Given the description of an element on the screen output the (x, y) to click on. 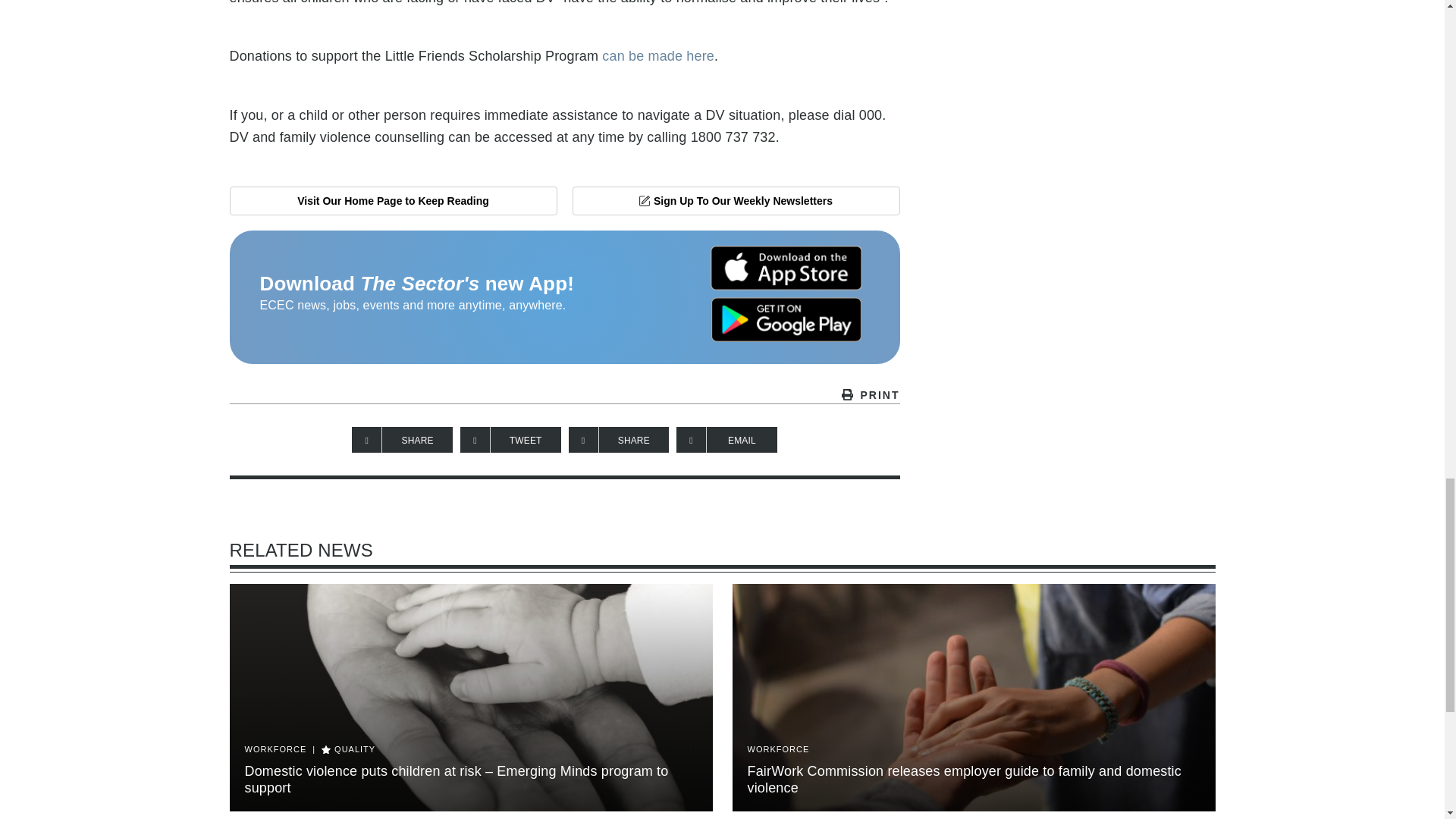
Share on Facebook (402, 439)
Tweet (510, 439)
Share on LinkedIn (619, 439)
Share on Email (727, 439)
